Given the description of an element on the screen output the (x, y) to click on. 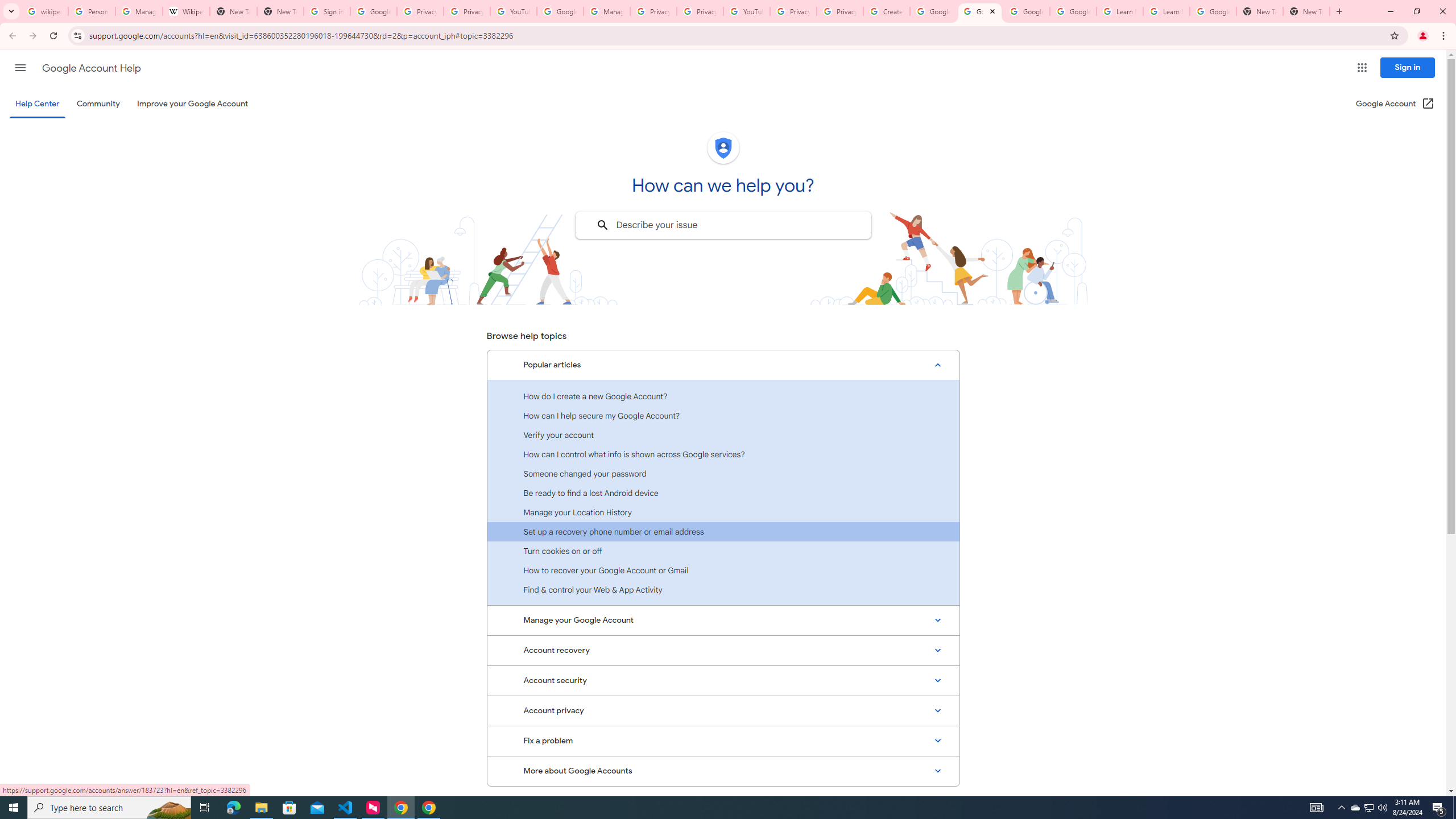
Google Account Help (559, 11)
Create your Google Account (886, 11)
How do I create a new Google Account? (722, 396)
Personalization & Google Search results - Google Search Help (91, 11)
Someone changed your password (722, 473)
How can I help secure my Google Account? (722, 415)
Turn cookies on or off (722, 551)
Manage your Location History (722, 512)
Fix a problem (722, 740)
Wikipedia:Edit requests - Wikipedia (186, 11)
